Given the description of an element on the screen output the (x, y) to click on. 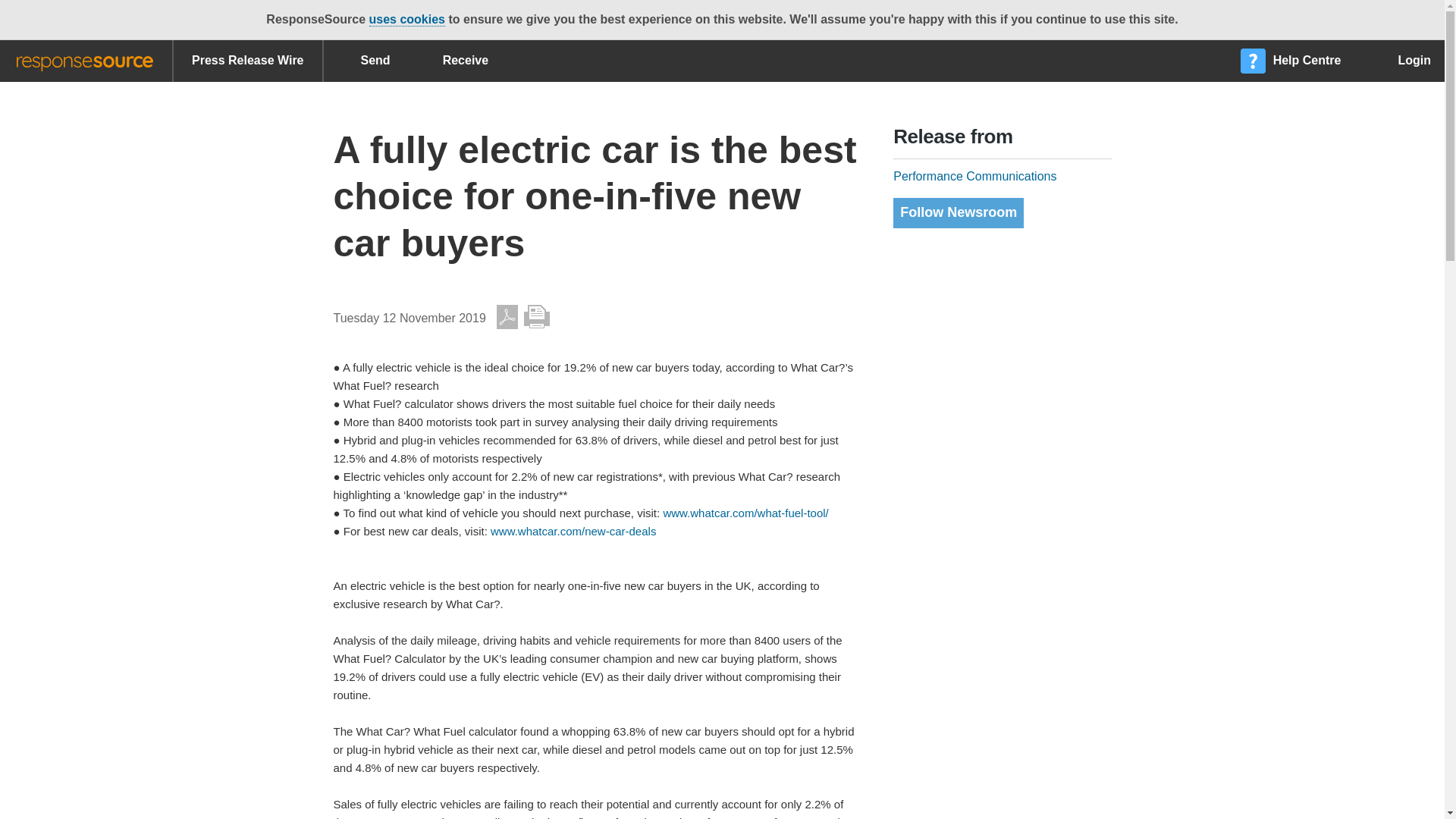
Send (363, 60)
Receive (453, 60)
Press Release Wire (247, 60)
Print (537, 316)
uses cookies (406, 19)
Help Centre (1292, 60)
